Given the description of an element on the screen output the (x, y) to click on. 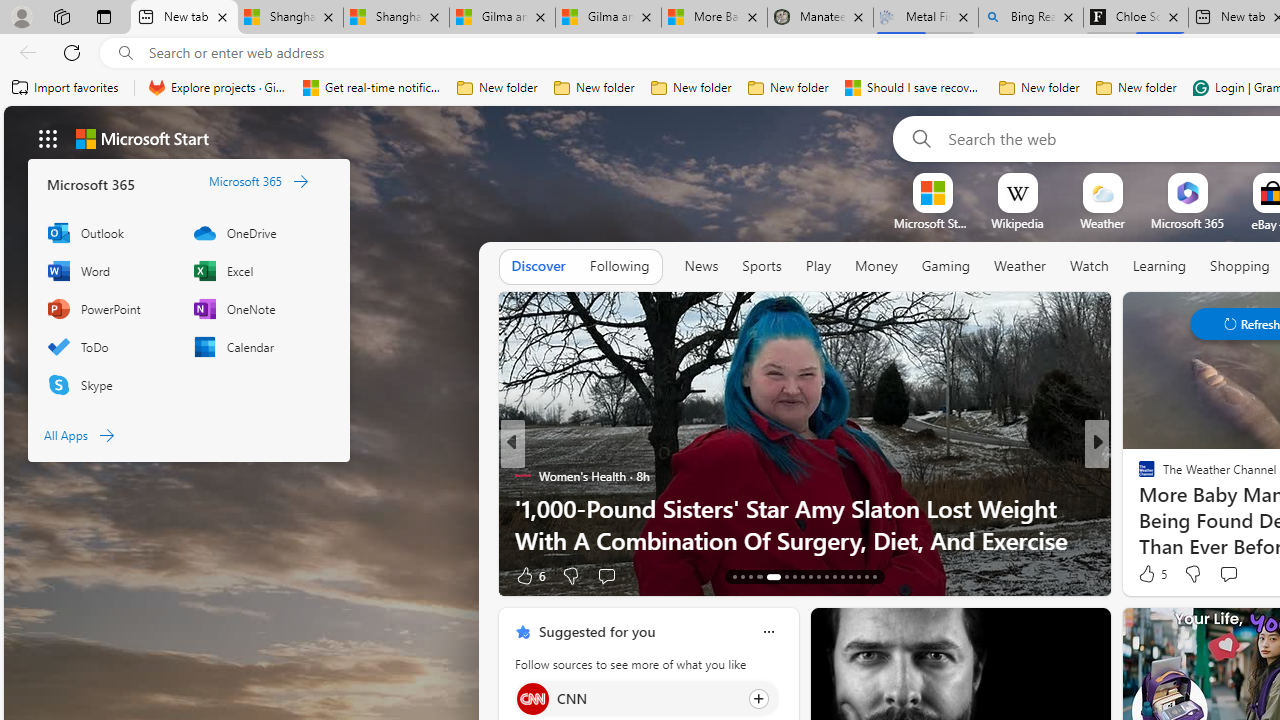
OneDrive (255, 232)
View comments 247 Comment (1247, 574)
View comments 1 Comment (1229, 575)
View comments 42 Comment (11, 575)
AutomationID: tab-41 (865, 576)
CNBC (1138, 475)
AutomationID: tab-42 (874, 576)
151 Like (1151, 574)
Climate Crisis 247 (1138, 475)
View comments 7 Comment (1234, 574)
To Do (110, 346)
